Given the description of an element on the screen output the (x, y) to click on. 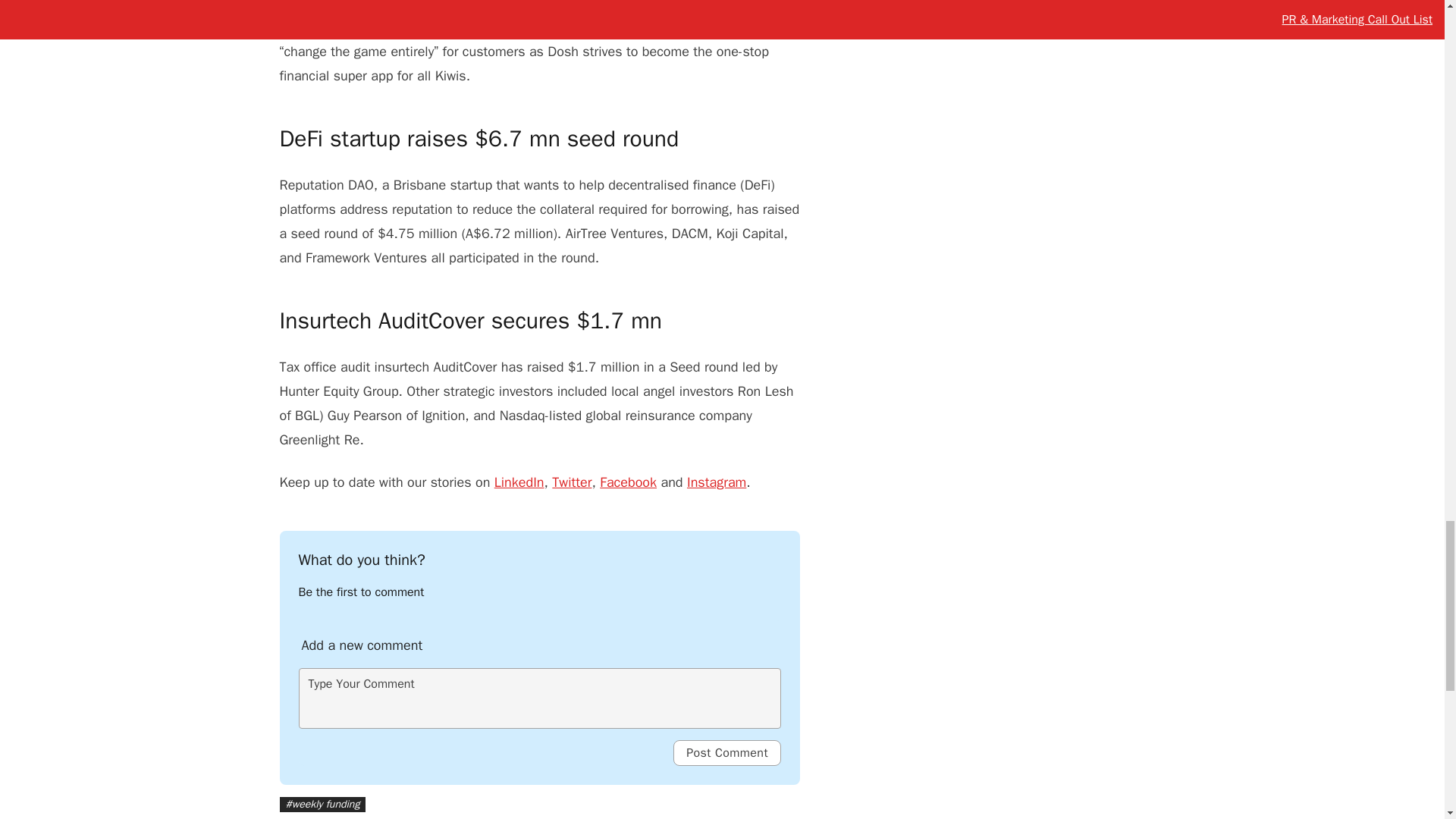
Post Comment (726, 752)
LinkedIn (519, 482)
Facebook (627, 482)
Instagram (716, 482)
Twitter (571, 482)
